Given the description of an element on the screen output the (x, y) to click on. 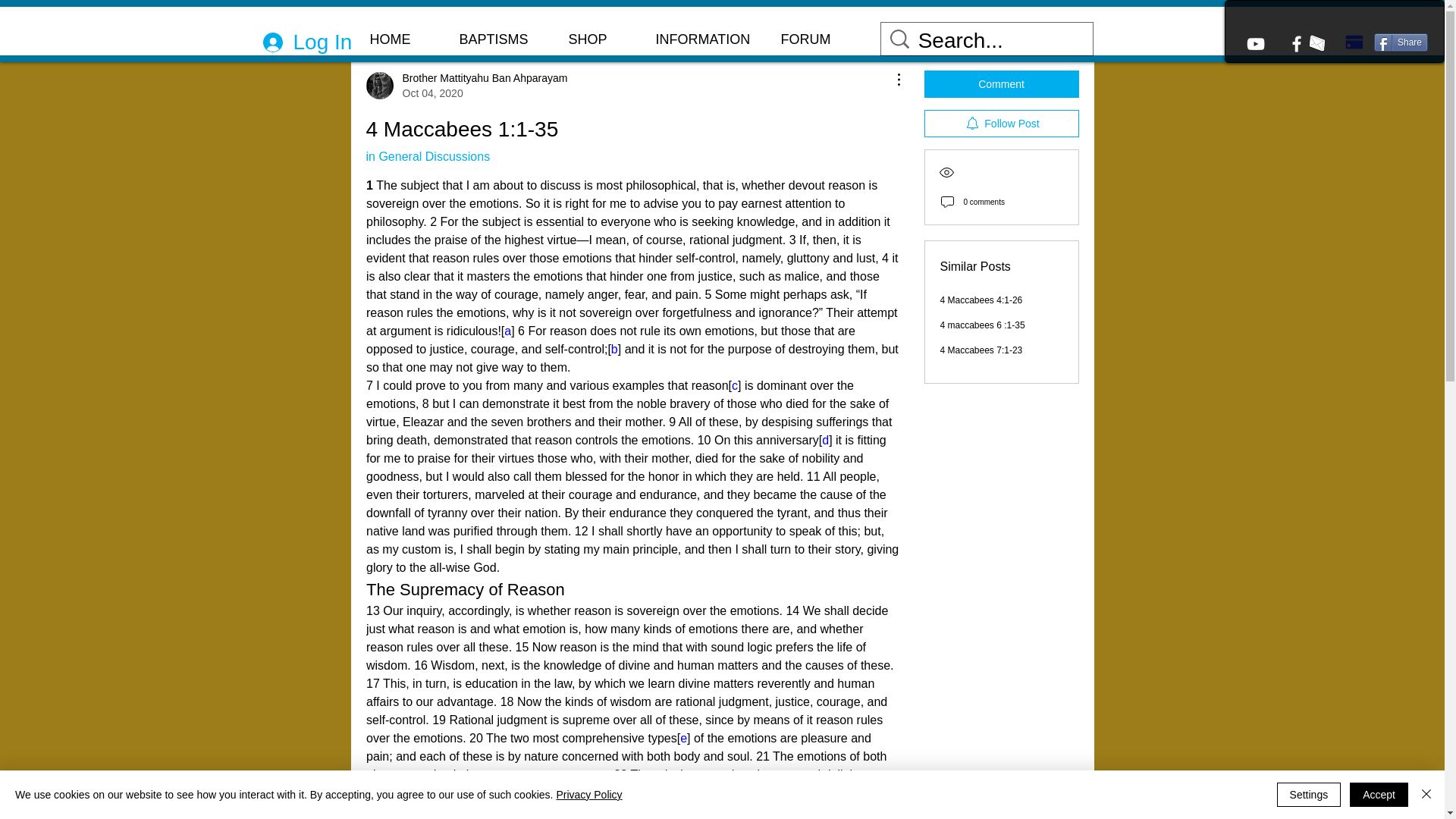
4 Maccabees 4:1-26 (981, 299)
Categories (394, 22)
a (507, 330)
b (613, 349)
d (825, 440)
Share (1401, 42)
Comment (466, 85)
Follow Post (1000, 83)
4 Maccabees 7:1-23 (1000, 123)
All Posts (981, 349)
BAPTISMS (465, 22)
Log In (501, 39)
in General Discussions (296, 41)
INFORMATION (427, 155)
